Given the description of an element on the screen output the (x, y) to click on. 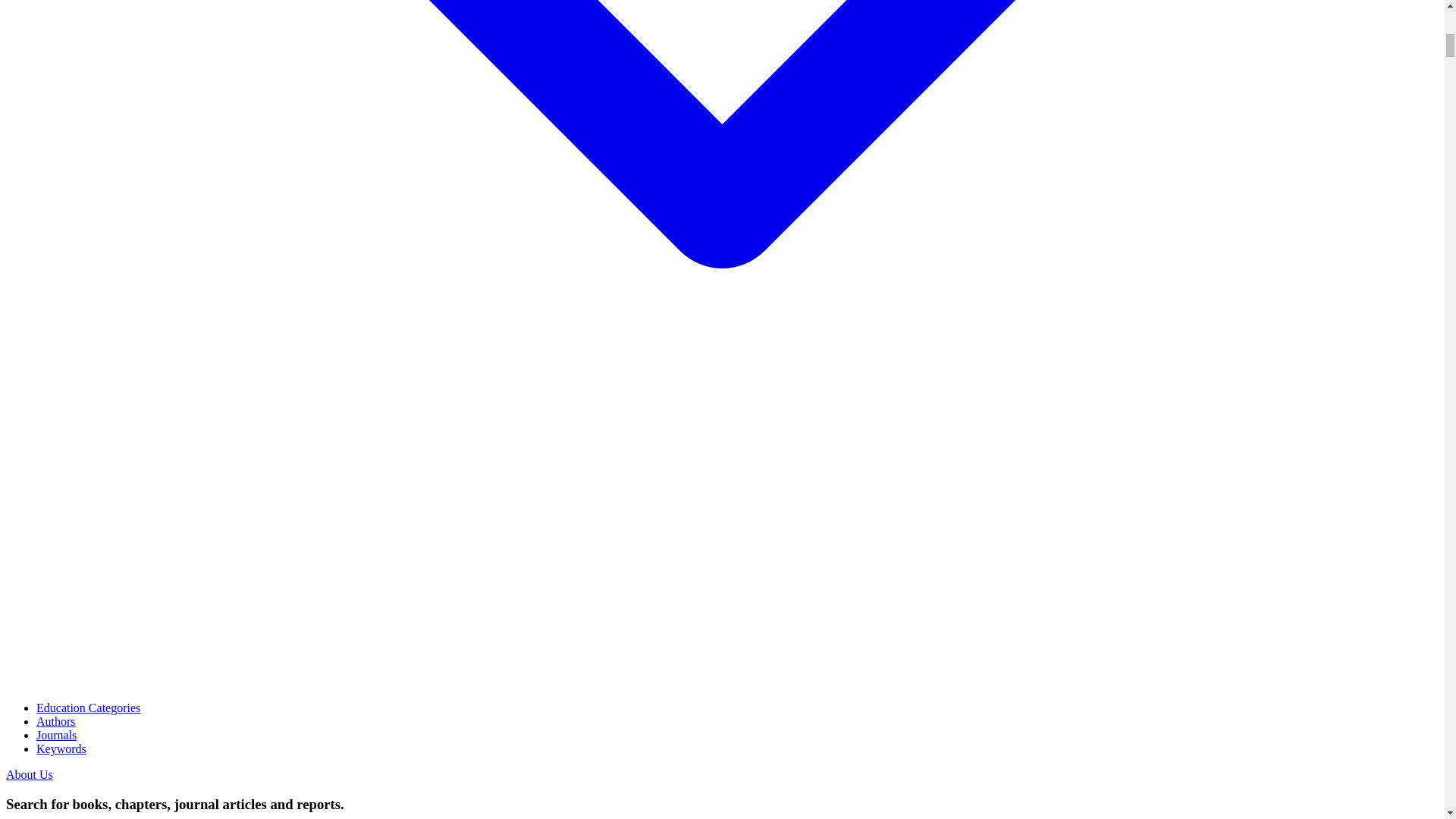
Journals (56, 735)
Authors (55, 721)
About Us (28, 774)
Keywords (60, 748)
Education Categories (87, 707)
